Given the description of an element on the screen output the (x, y) to click on. 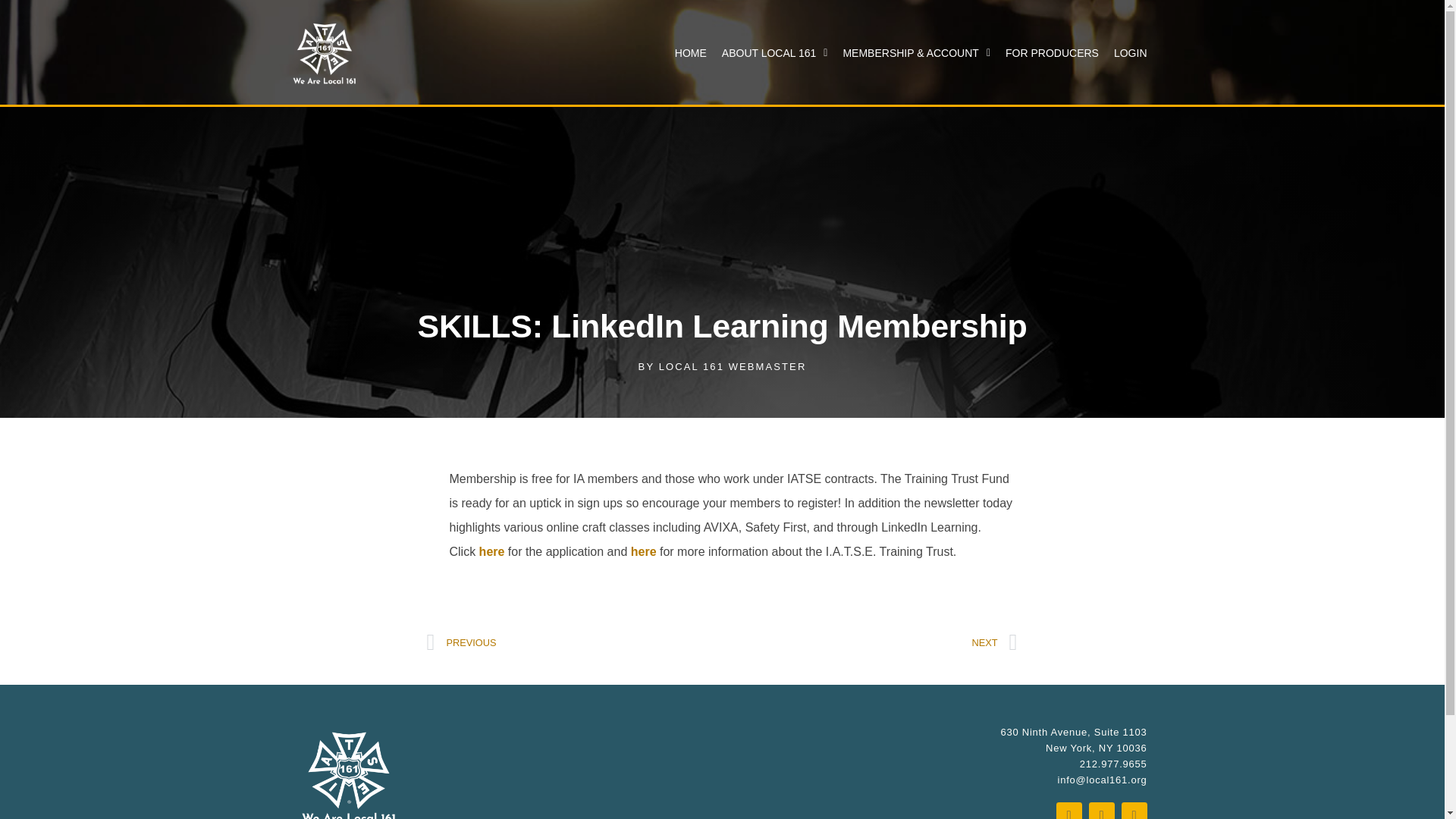
here (492, 551)
PREVIOUS (574, 642)
ABOUT LOCAL 161 (774, 52)
NEXT (869, 642)
BY LOCAL 161 WEBMASTER (722, 366)
here (643, 551)
FOR PRODUCERS (1051, 52)
